Given the description of an element on the screen output the (x, y) to click on. 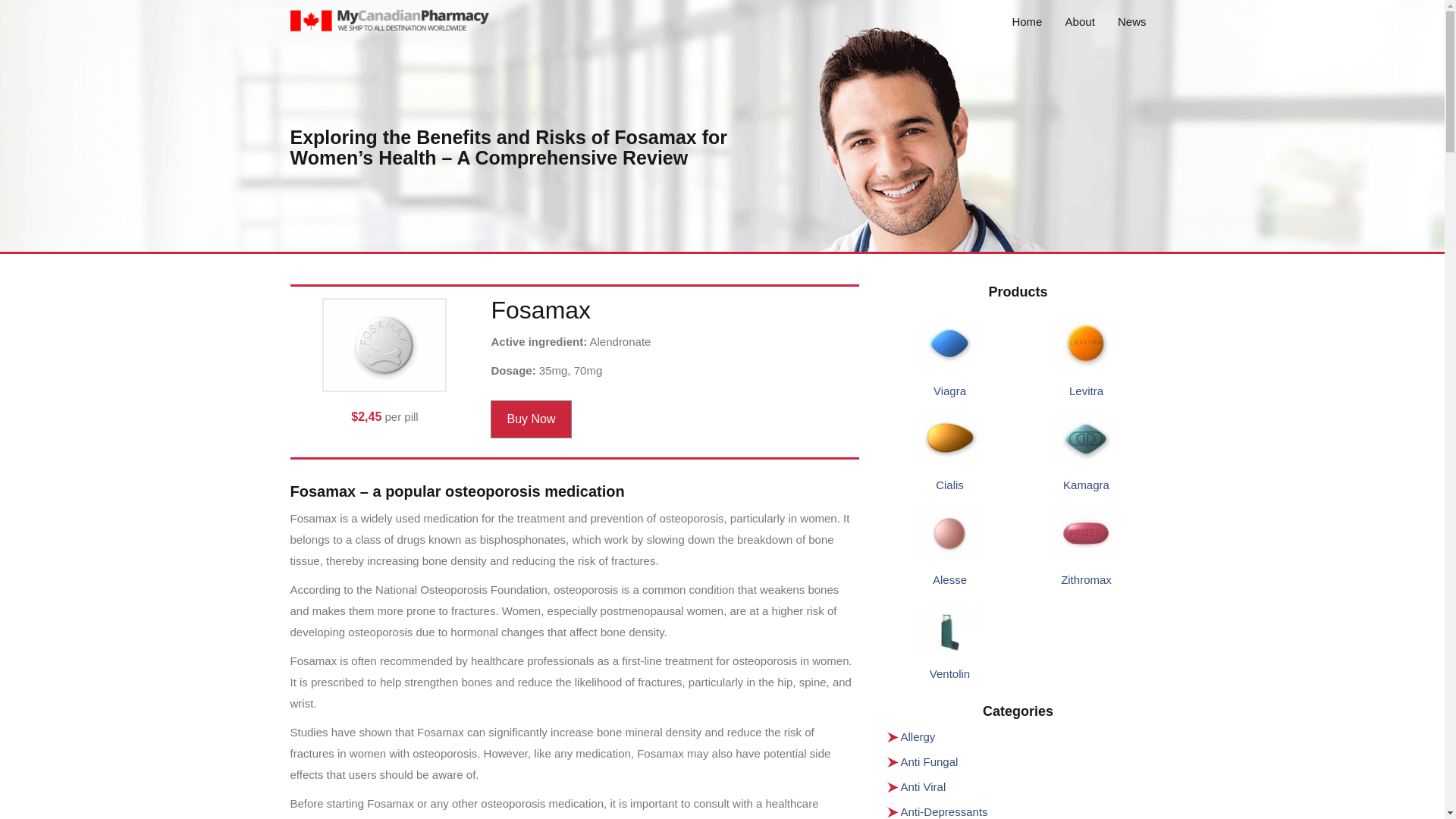
About (1080, 21)
News (1131, 21)
Ventolin (949, 673)
Cialis (949, 484)
Levitra (1085, 390)
Anti Fungal (929, 761)
Allergy (918, 736)
Zithromax (1086, 579)
Anti-Depressants (944, 811)
Home (1026, 21)
Alesse (949, 579)
Buy Now (530, 419)
Viagra (949, 390)
Viagra (949, 390)
Anti Viral (923, 786)
